Given the description of an element on the screen output the (x, y) to click on. 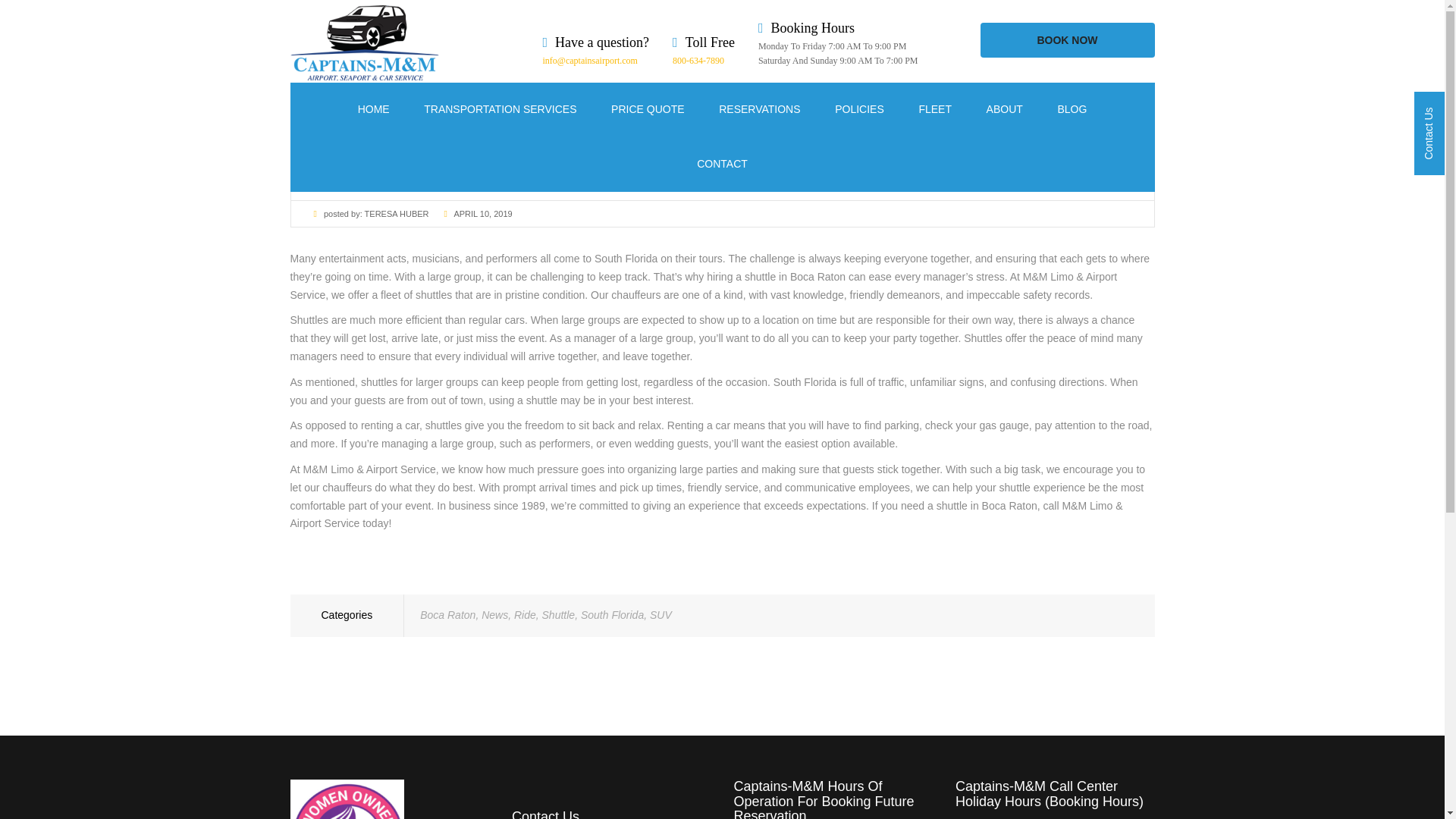
FLEET (935, 109)
Ride (524, 614)
Shuttle (558, 614)
News (494, 614)
TRANSPORTATION SERVICES (499, 109)
BLOG (1071, 109)
CONTACT (721, 164)
RESERVATIONS (759, 109)
South Florida (611, 614)
Boca Raton (448, 614)
HOME (374, 109)
800-634-7890 (697, 60)
SUV (660, 614)
PRICE QUOTE (647, 109)
POLICIES (858, 109)
